Given the description of an element on the screen output the (x, y) to click on. 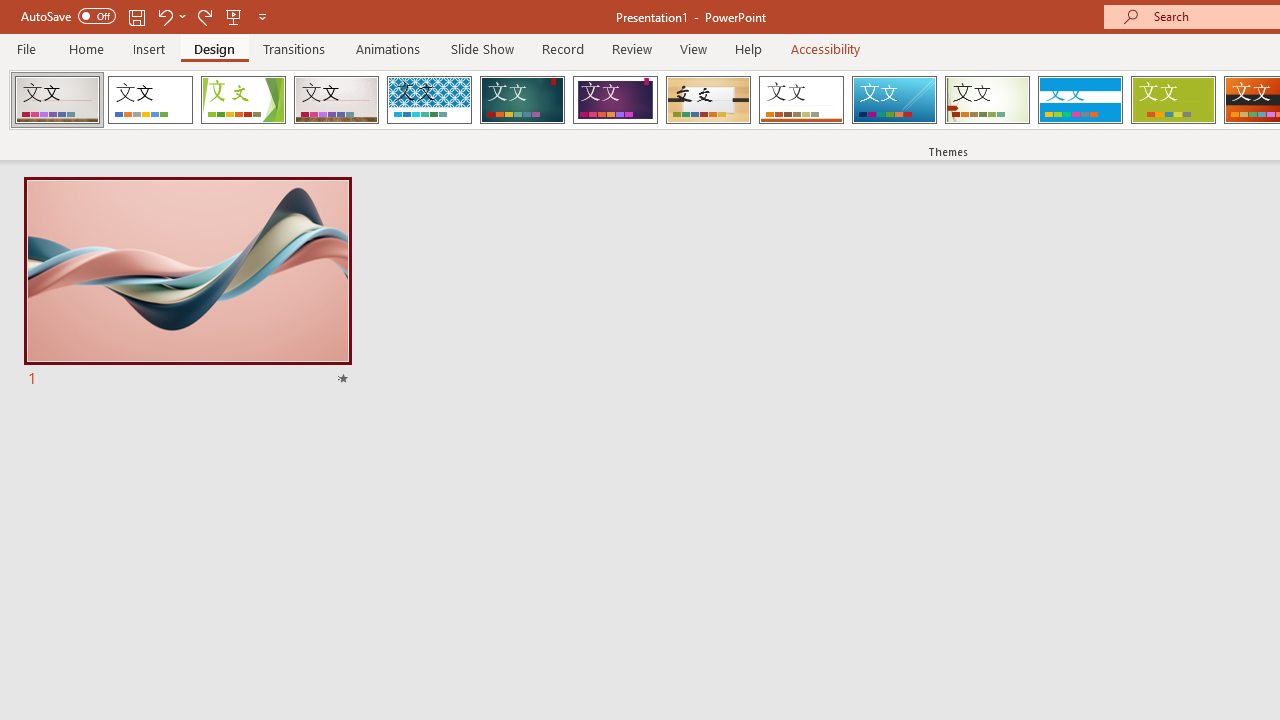
Facet (243, 100)
Ion Boardroom (615, 100)
Slice (893, 100)
Integral (429, 100)
Basis (1172, 100)
Wisp (987, 100)
